Given the description of an element on the screen output the (x, y) to click on. 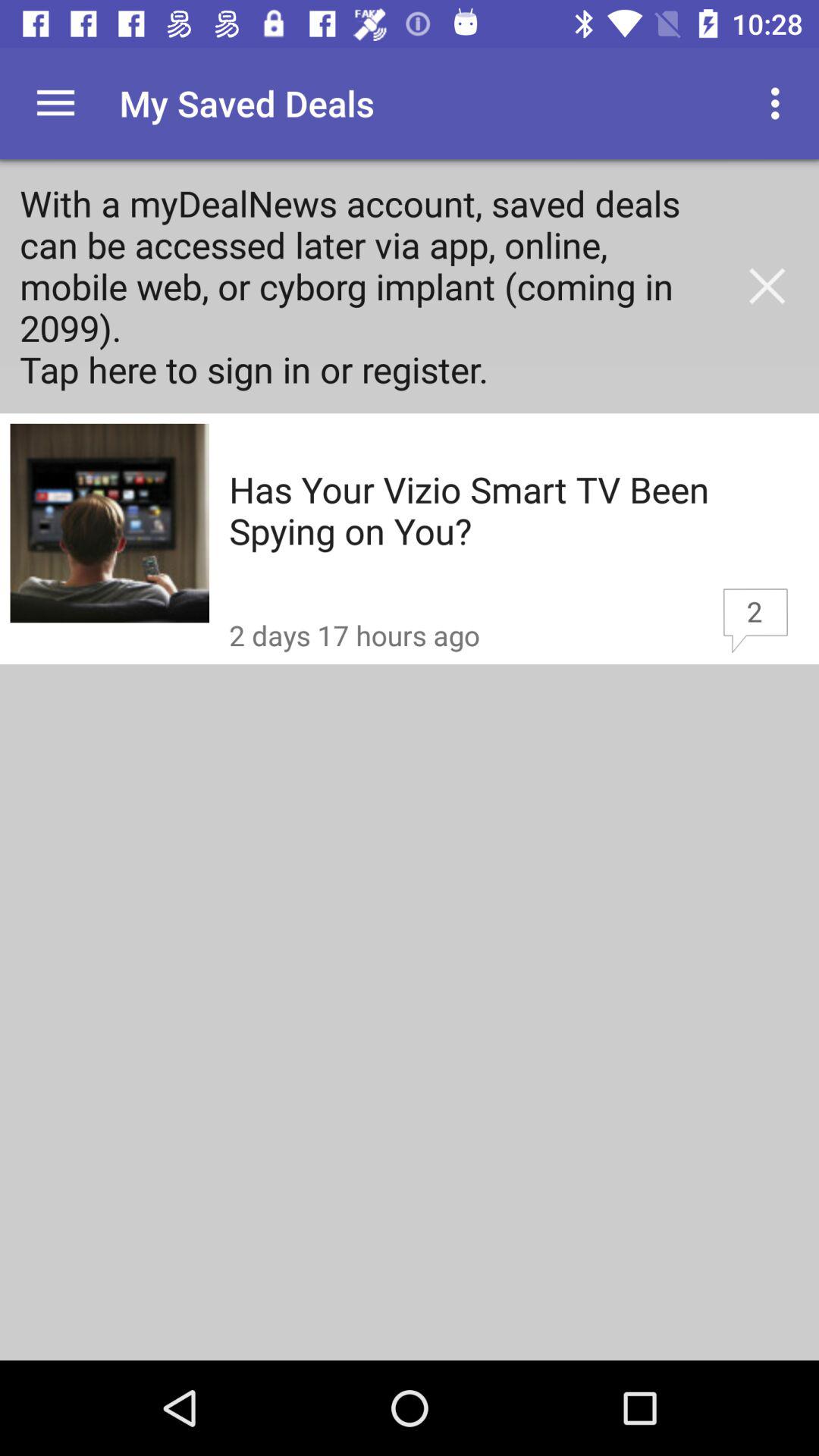
turn on the item next to the with a mydealnews icon (767, 285)
